Given the description of an element on the screen output the (x, y) to click on. 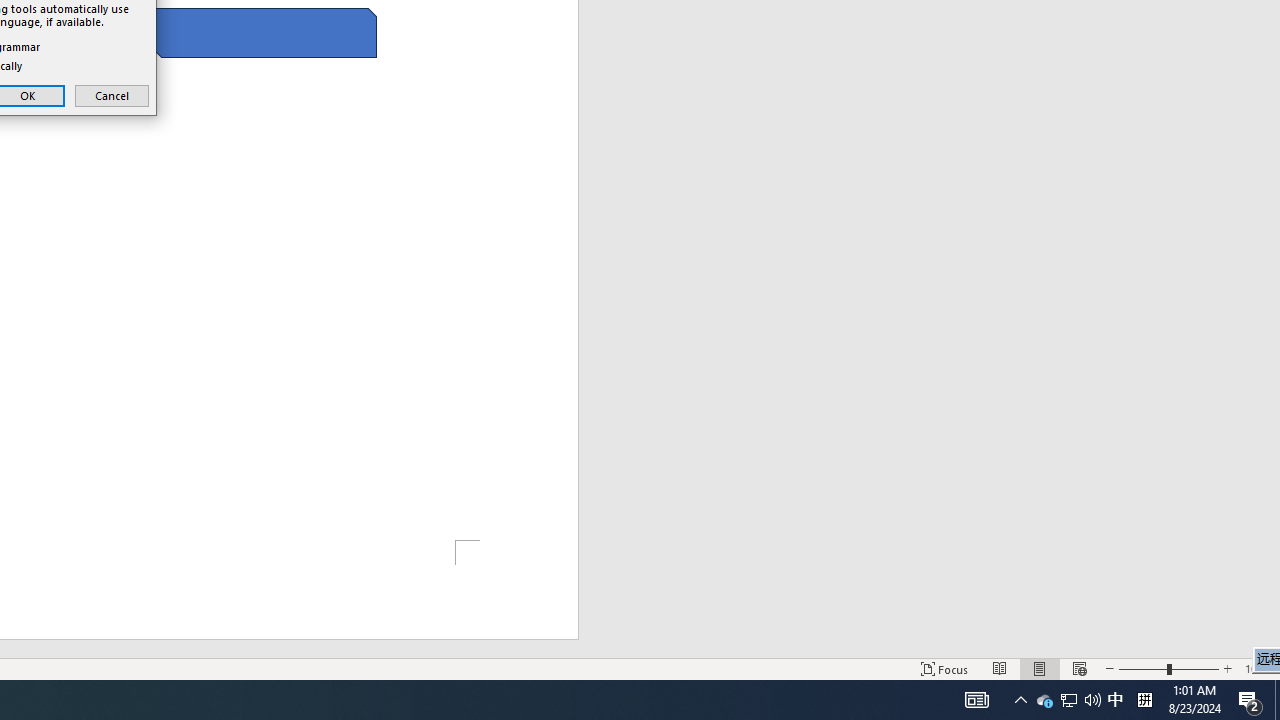
Tray Input Indicator - Chinese (Simplified, China) (1144, 699)
Zoom 104% (1258, 668)
